Given the description of an element on the screen output the (x, y) to click on. 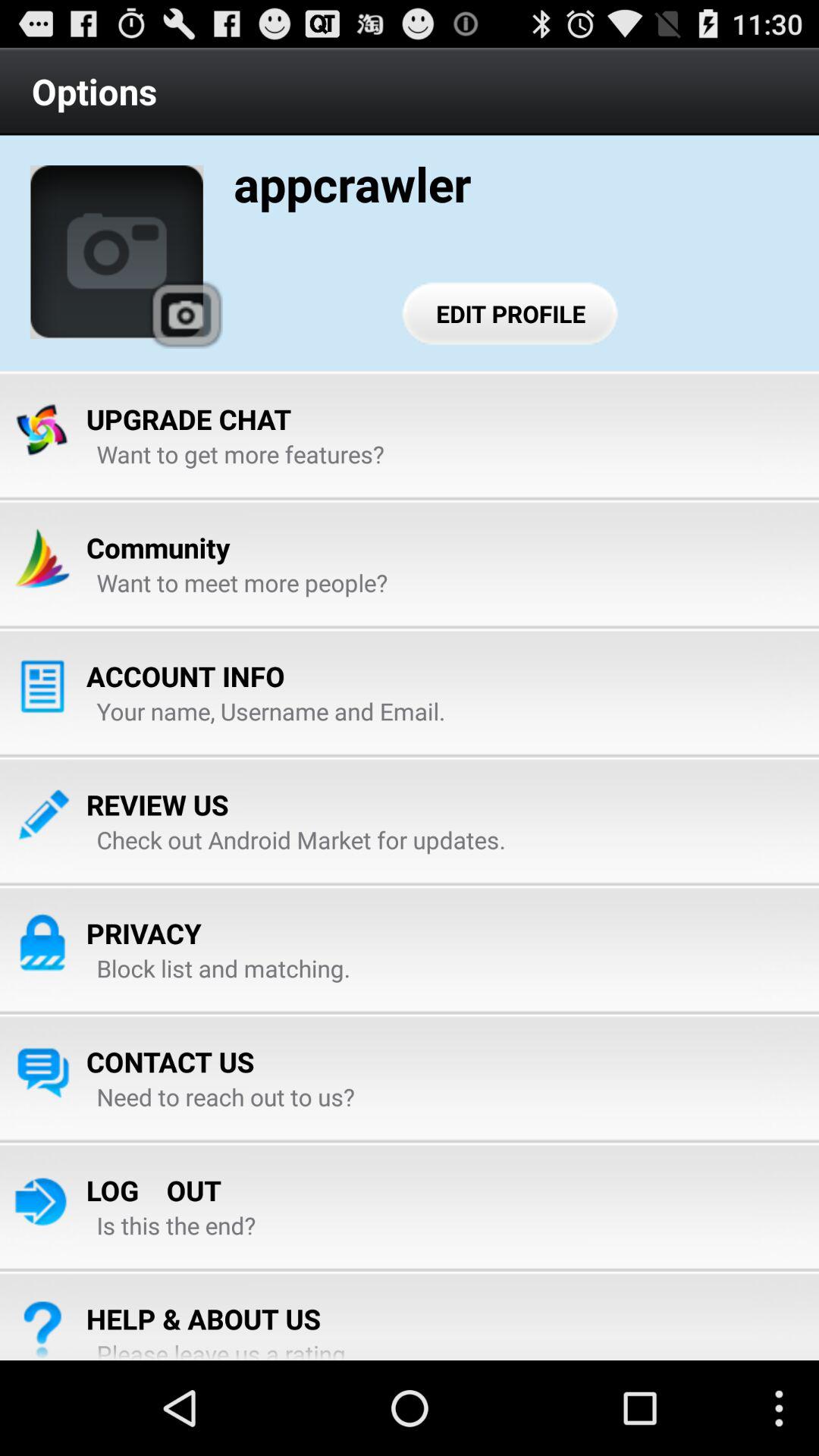
choose the item below the help & about us icon (226, 1348)
